Given the description of an element on the screen output the (x, y) to click on. 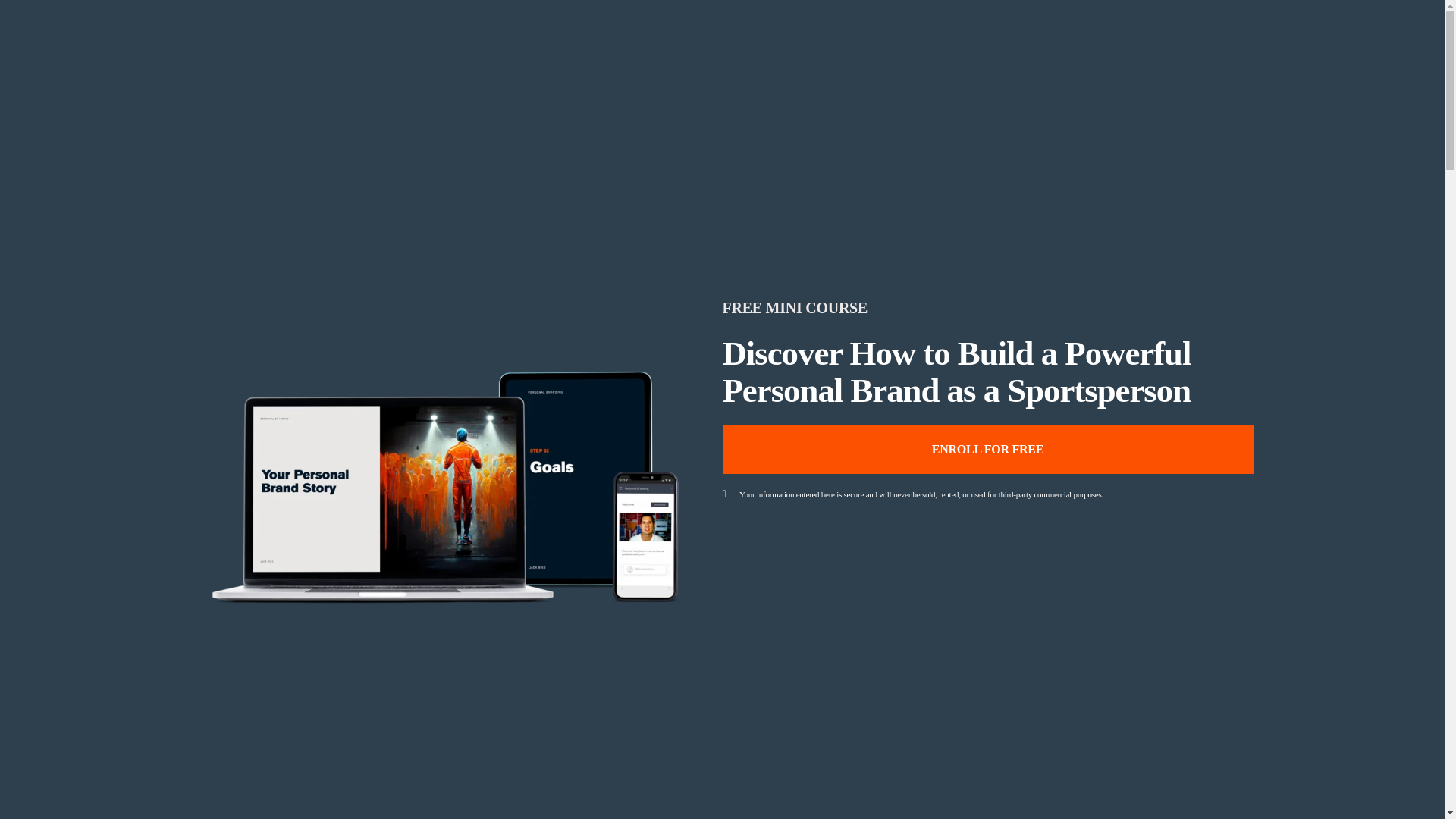
ENROLL FOR FREE (987, 449)
